Given the description of an element on the screen output the (x, y) to click on. 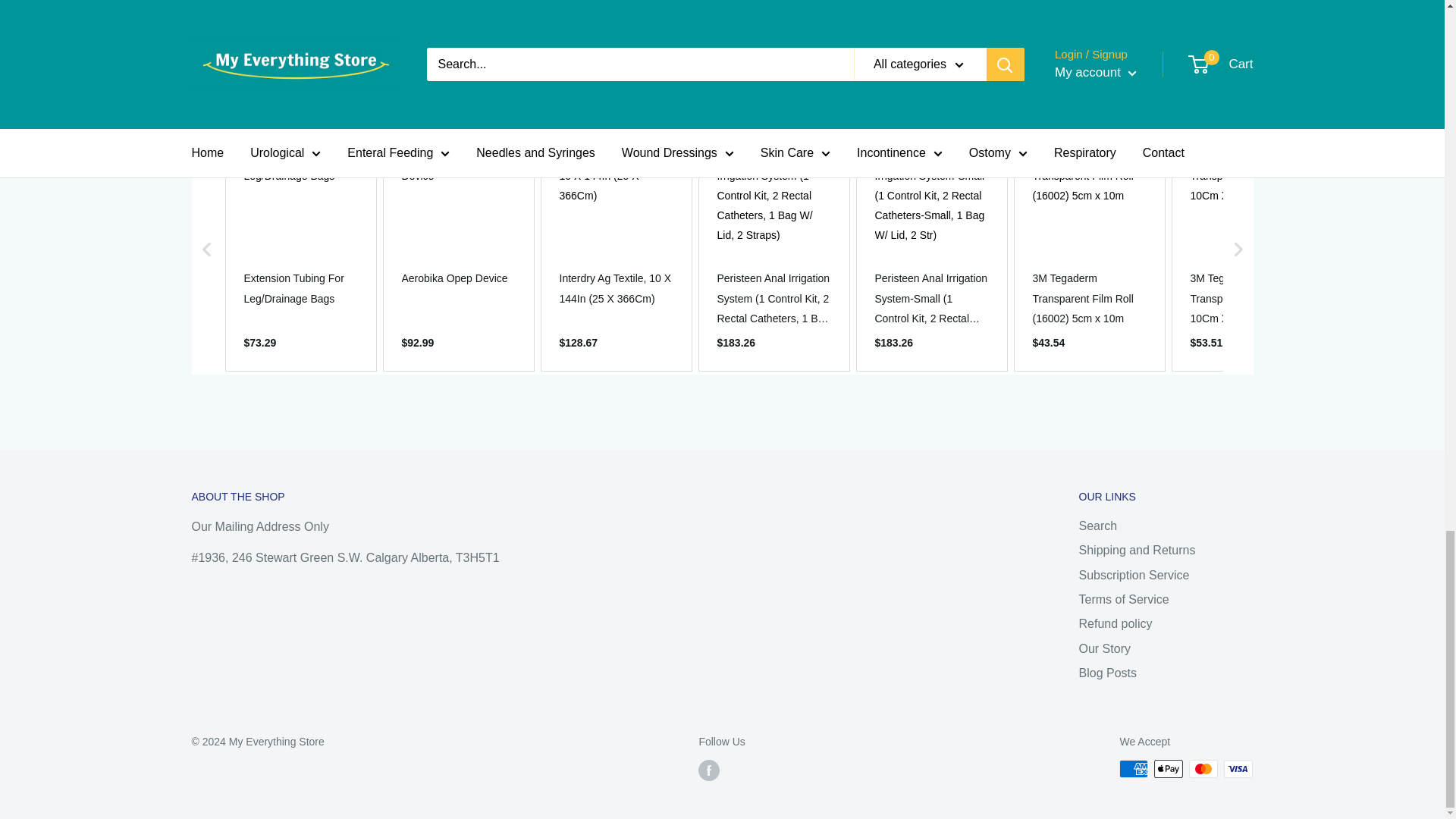
3M Tegaderm Transparent Film Roll 10Cm X 10M. (1247, 298)
Aerobika Opep Device (458, 278)
